Given the description of an element on the screen output the (x, y) to click on. 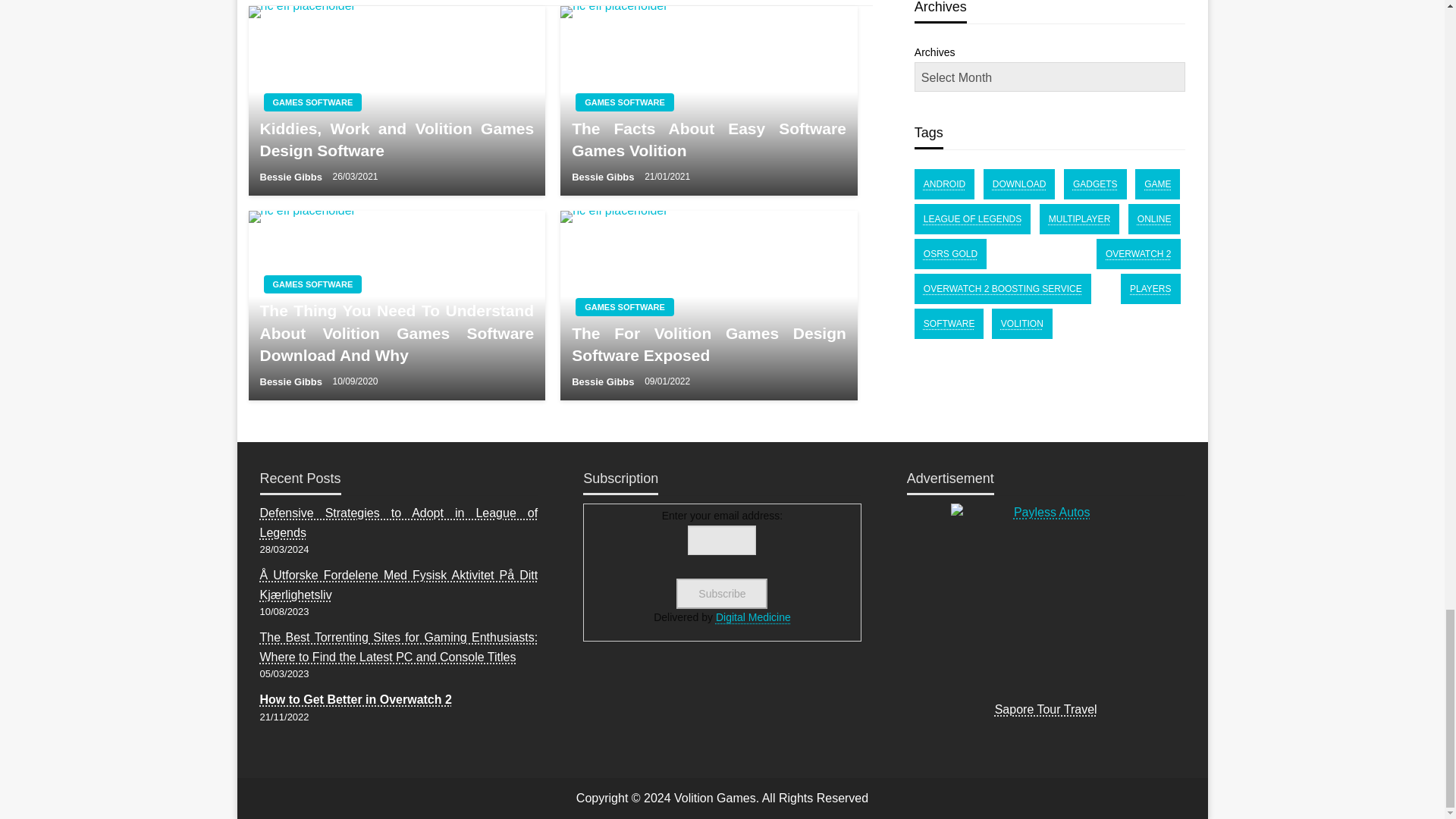
The For Volition Games Design Software Exposed (708, 305)
The Facts About Easy Software Games Volition (708, 100)
Bessie Gibbs (291, 381)
Kiddies, Work and Volition Games Design Software (397, 100)
GAMES SOFTWARE (312, 284)
GAMES SOFTWARE (312, 102)
Kiddies, Work and Volition Games Design Software (396, 139)
Bessie Gibbs (291, 176)
GAMES SOFTWARE (624, 307)
Subscribe (722, 593)
Bessie Gibbs (604, 176)
The Facts About Easy Software Games Volition (708, 139)
GAMES SOFTWARE (624, 102)
